Given the description of an element on the screen output the (x, y) to click on. 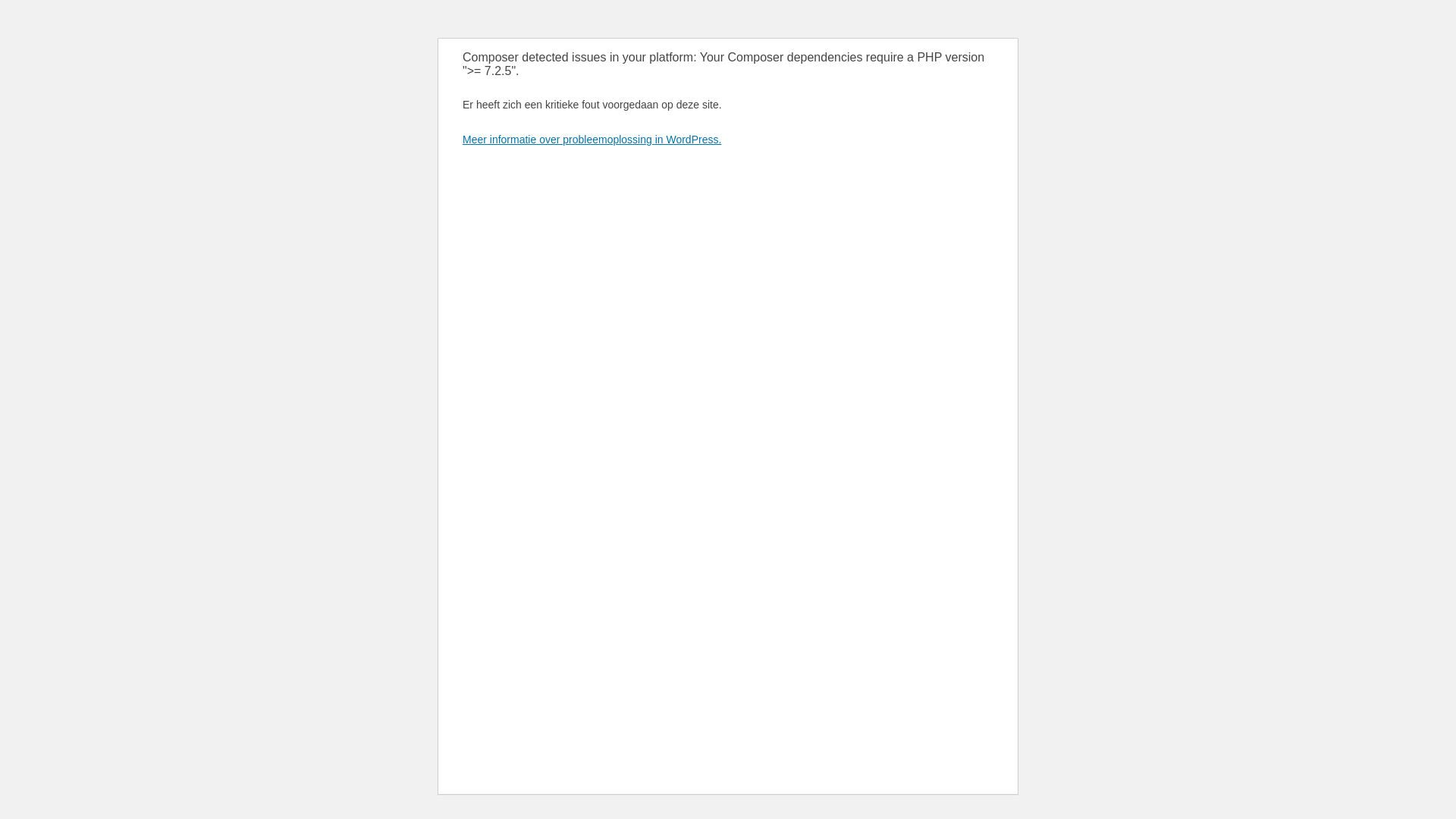
Meer informatie over probleemoplossing in WordPress. Element type: text (591, 139)
